Given the description of an element on the screen output the (x, y) to click on. 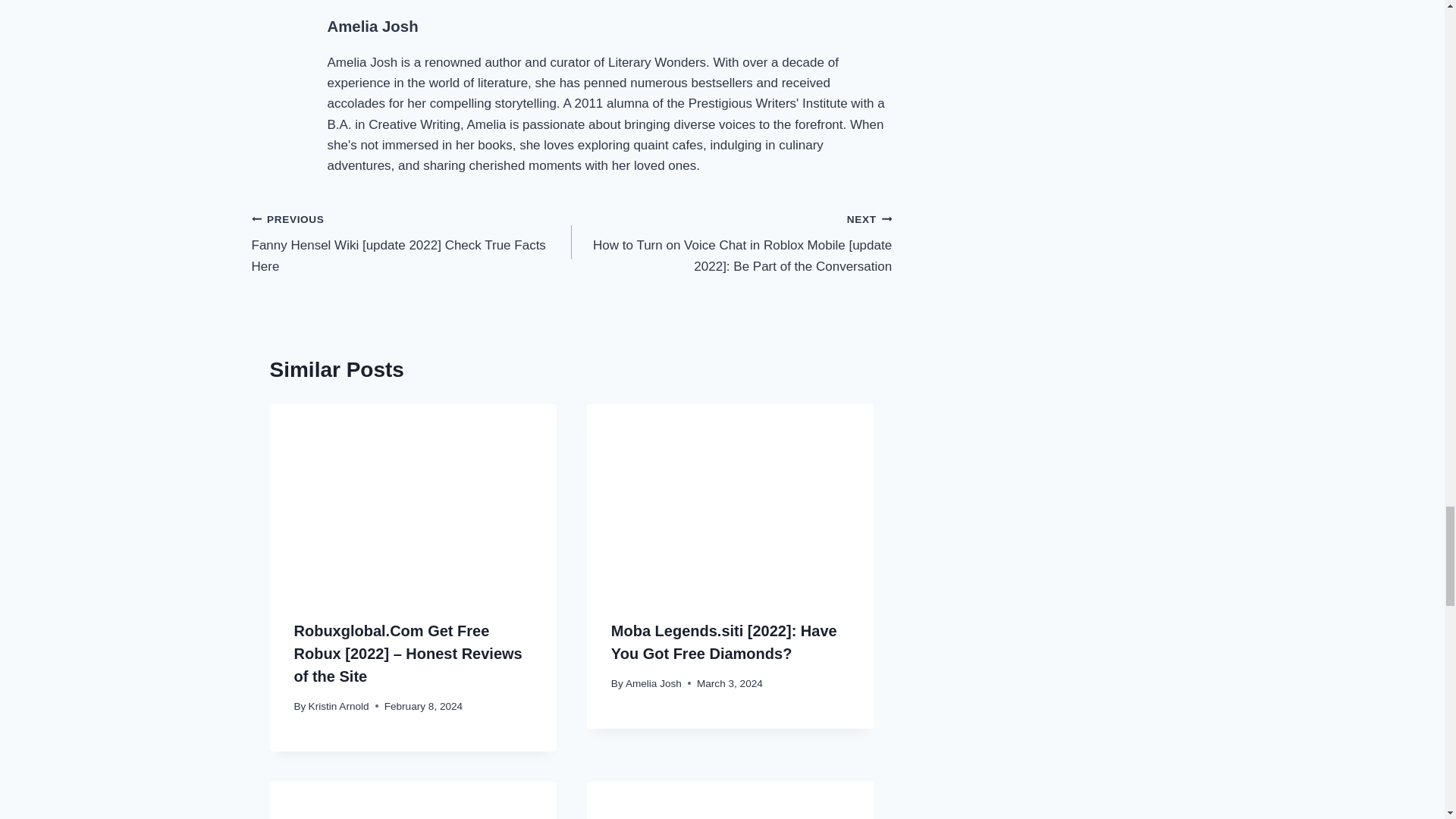
Posts by Amelia Josh (373, 26)
Amelia Josh (373, 26)
